Given the description of an element on the screen output the (x, y) to click on. 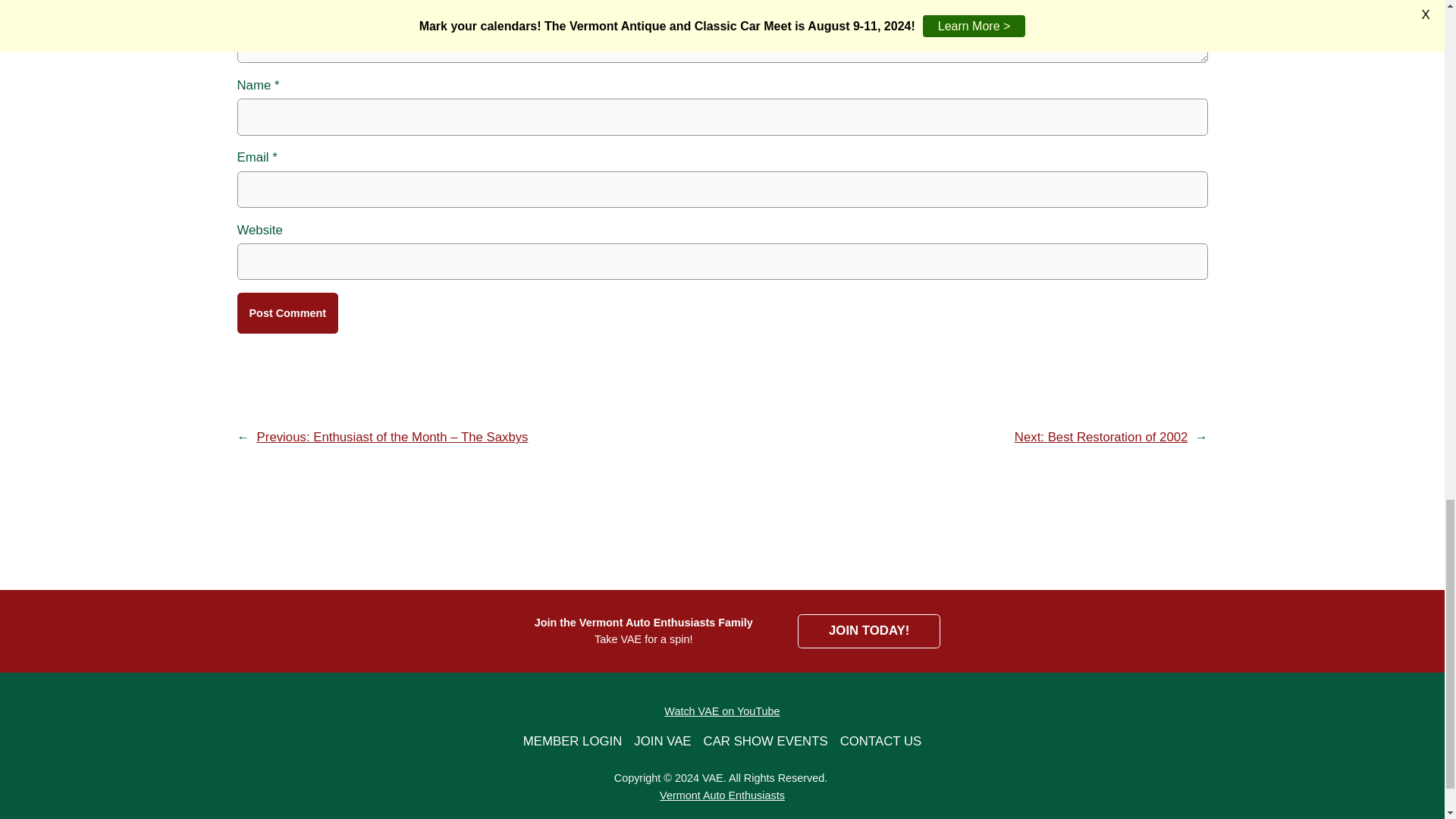
Post Comment (286, 312)
